Given the description of an element on the screen output the (x, y) to click on. 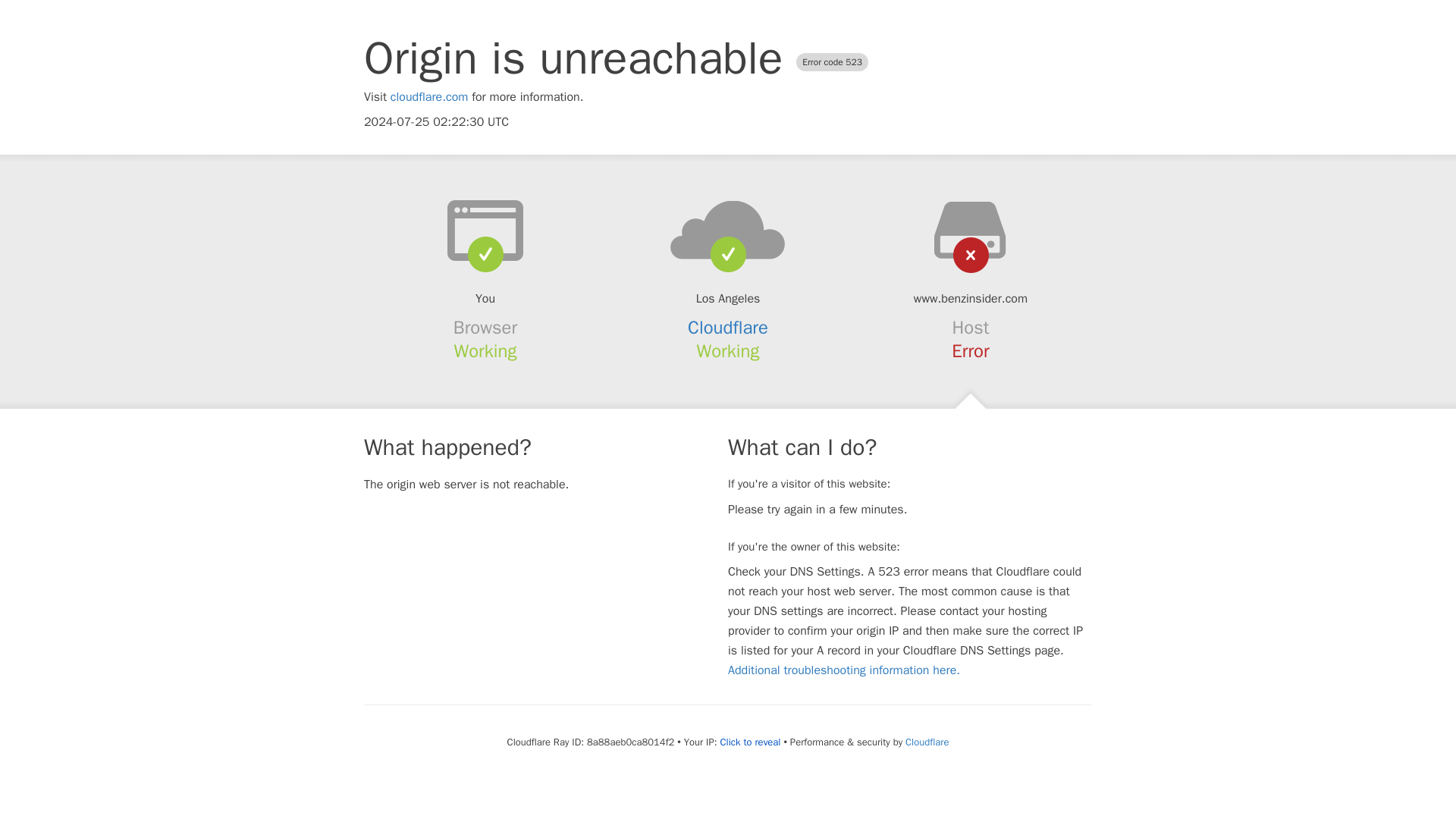
cloudflare.com (429, 96)
Cloudflare (727, 327)
Cloudflare (927, 741)
Additional troubleshooting information here. (843, 670)
Click to reveal (750, 742)
